Given the description of an element on the screen output the (x, y) to click on. 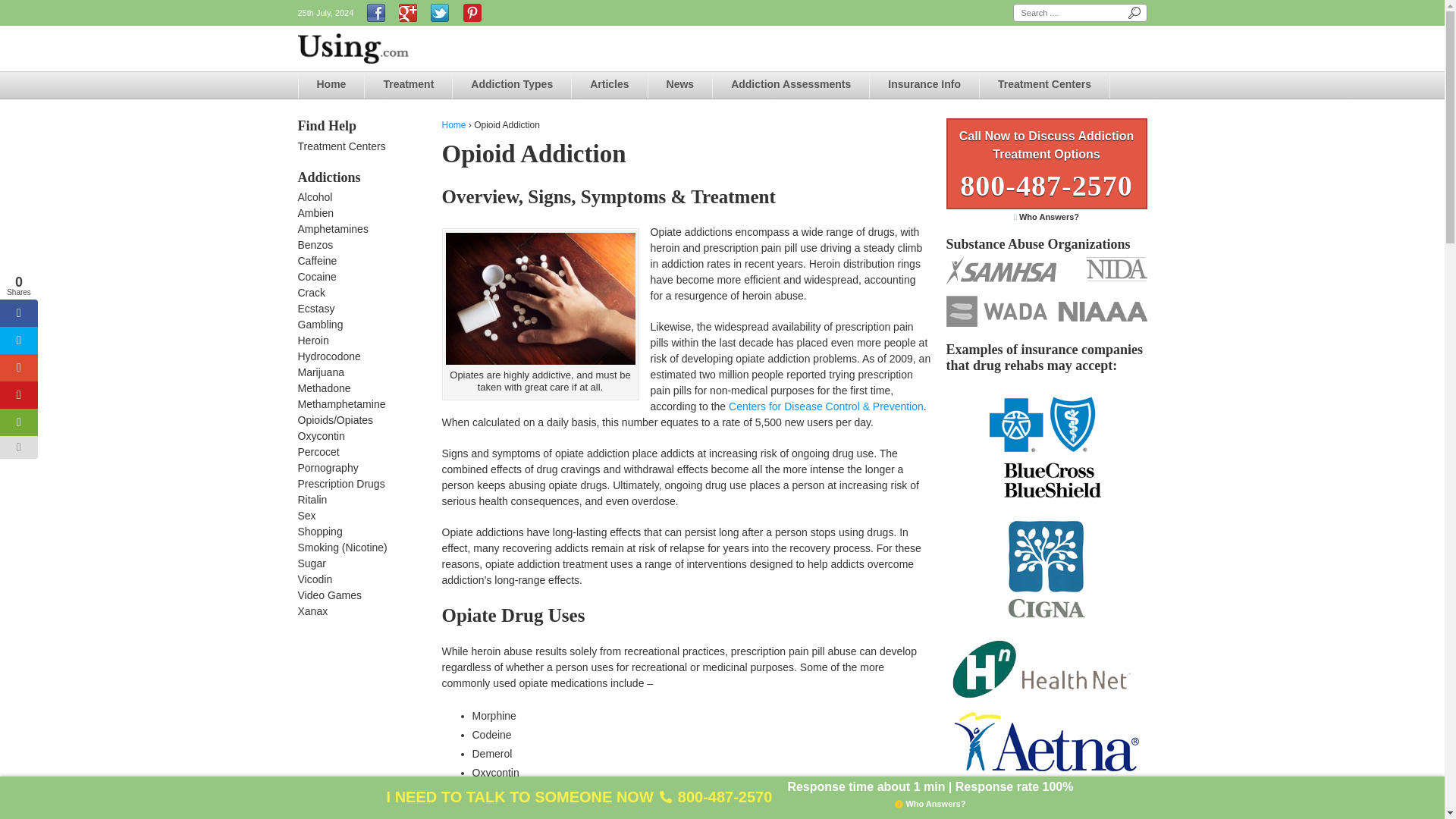
Addiction Types (511, 85)
Home (331, 85)
News (680, 85)
Insurance Info (923, 85)
Articles (609, 85)
Addiction Assessments (791, 85)
Treatment (408, 85)
